Given the description of an element on the screen output the (x, y) to click on. 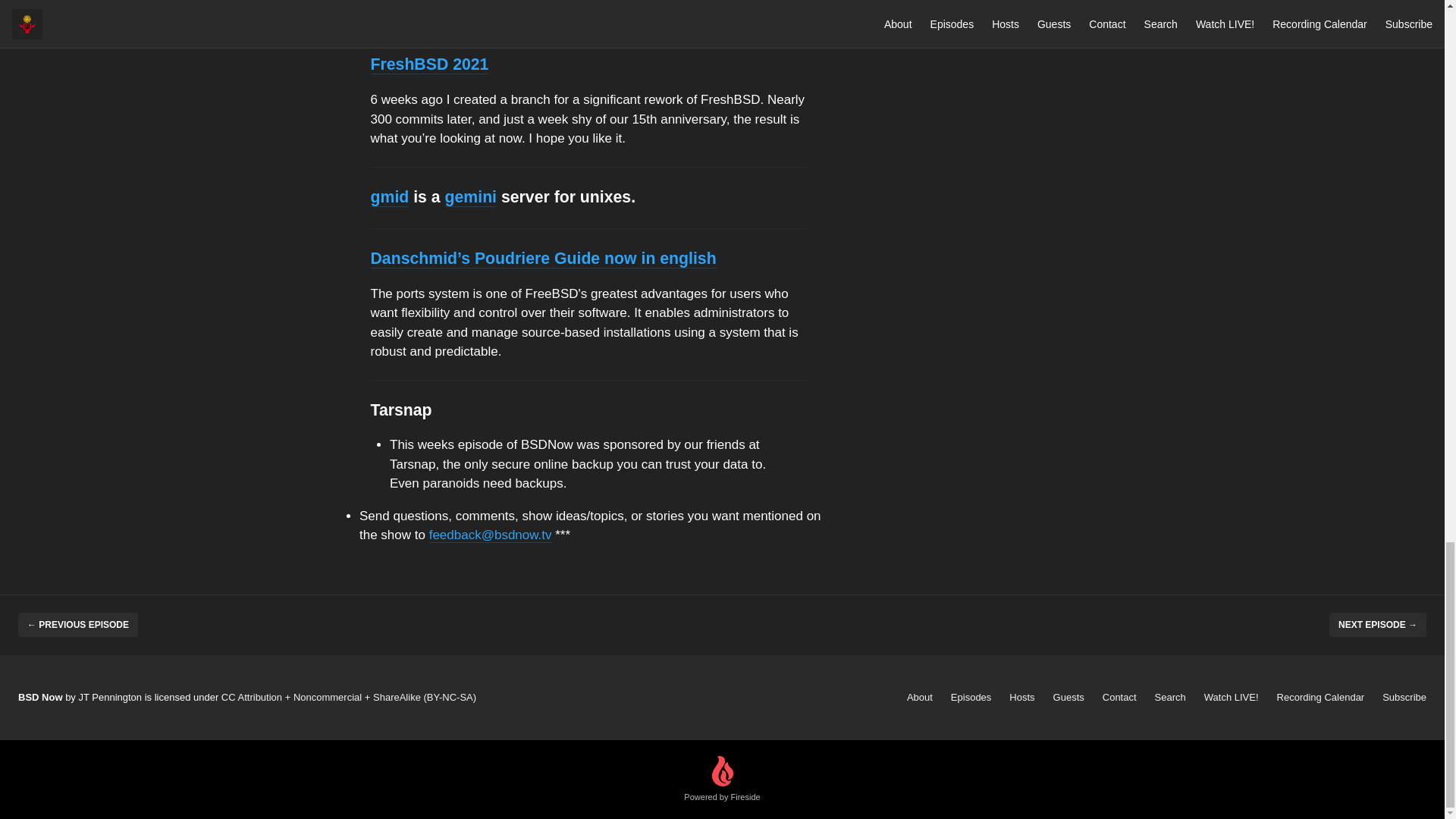
Powered by Fireside (722, 779)
